Given the description of an element on the screen output the (x, y) to click on. 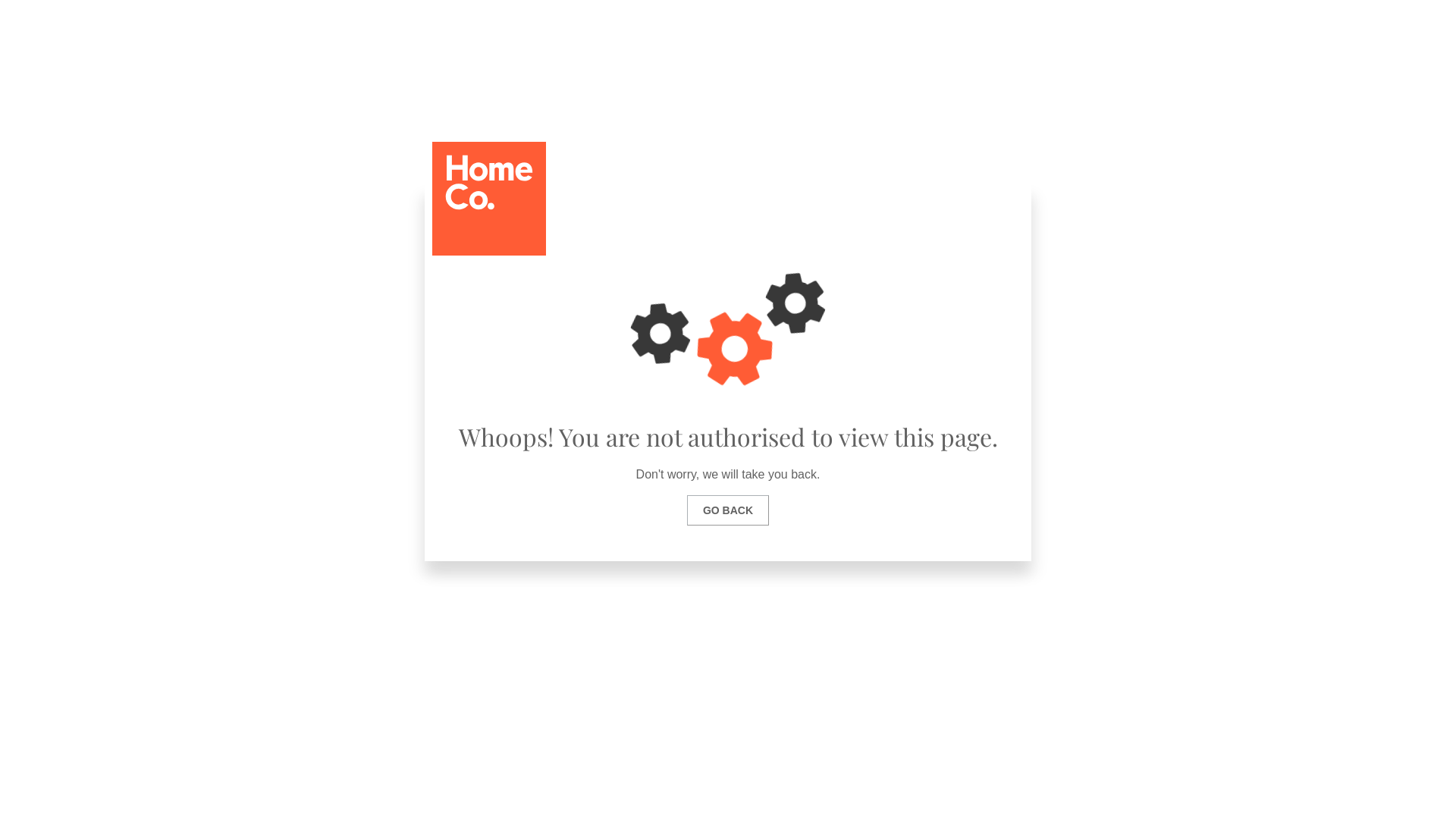
GO BACK Element type: text (727, 510)
